Given the description of an element on the screen output the (x, y) to click on. 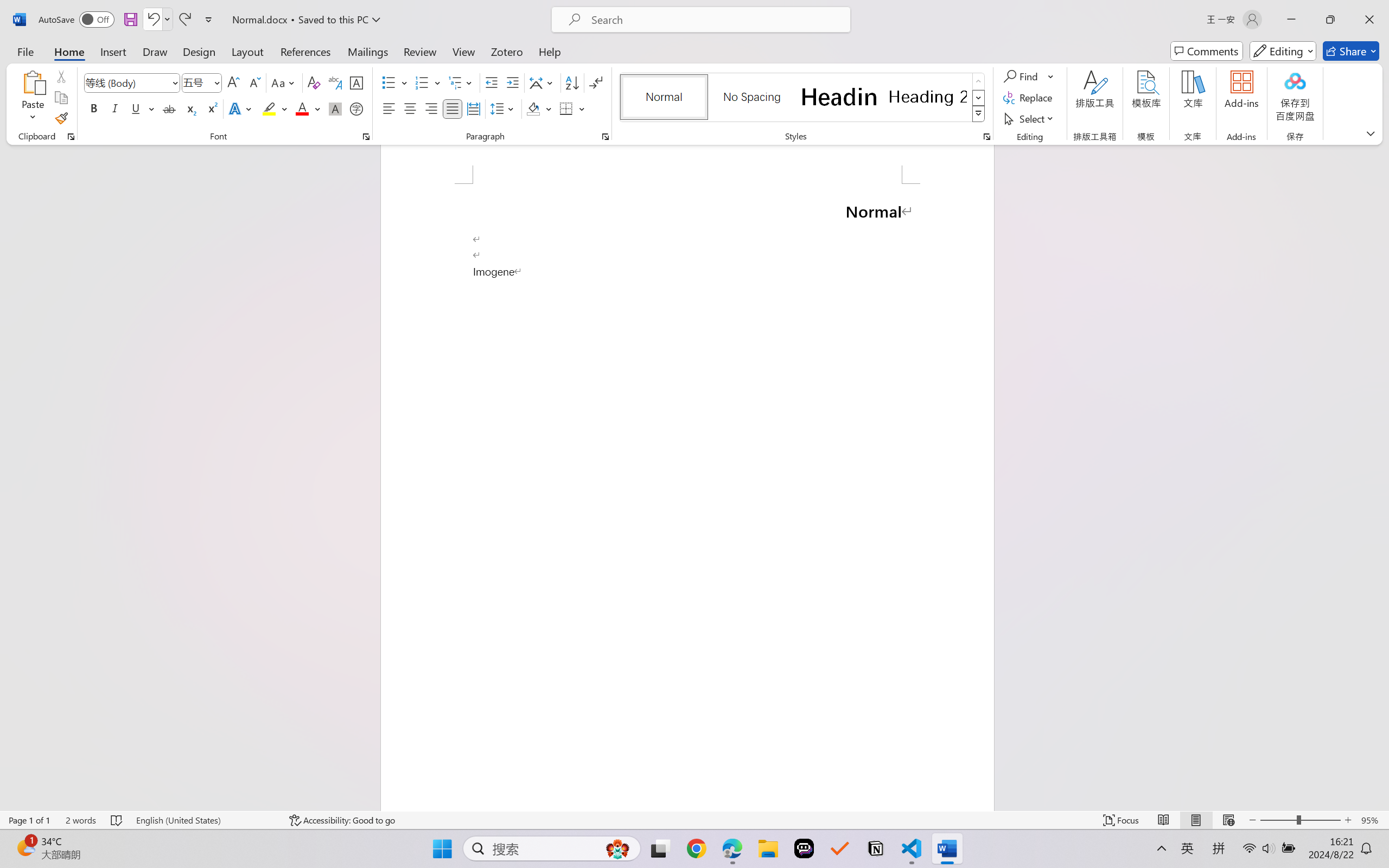
Microsoft search (715, 19)
Heading 2 (927, 96)
Center (409, 108)
AutomationID: QuickStylesGallery (802, 97)
Mode (1283, 50)
Zoom 95% (1372, 819)
Character Border (356, 82)
Heading 1 (839, 96)
Undo Typing (158, 19)
